Given the description of an element on the screen output the (x, y) to click on. 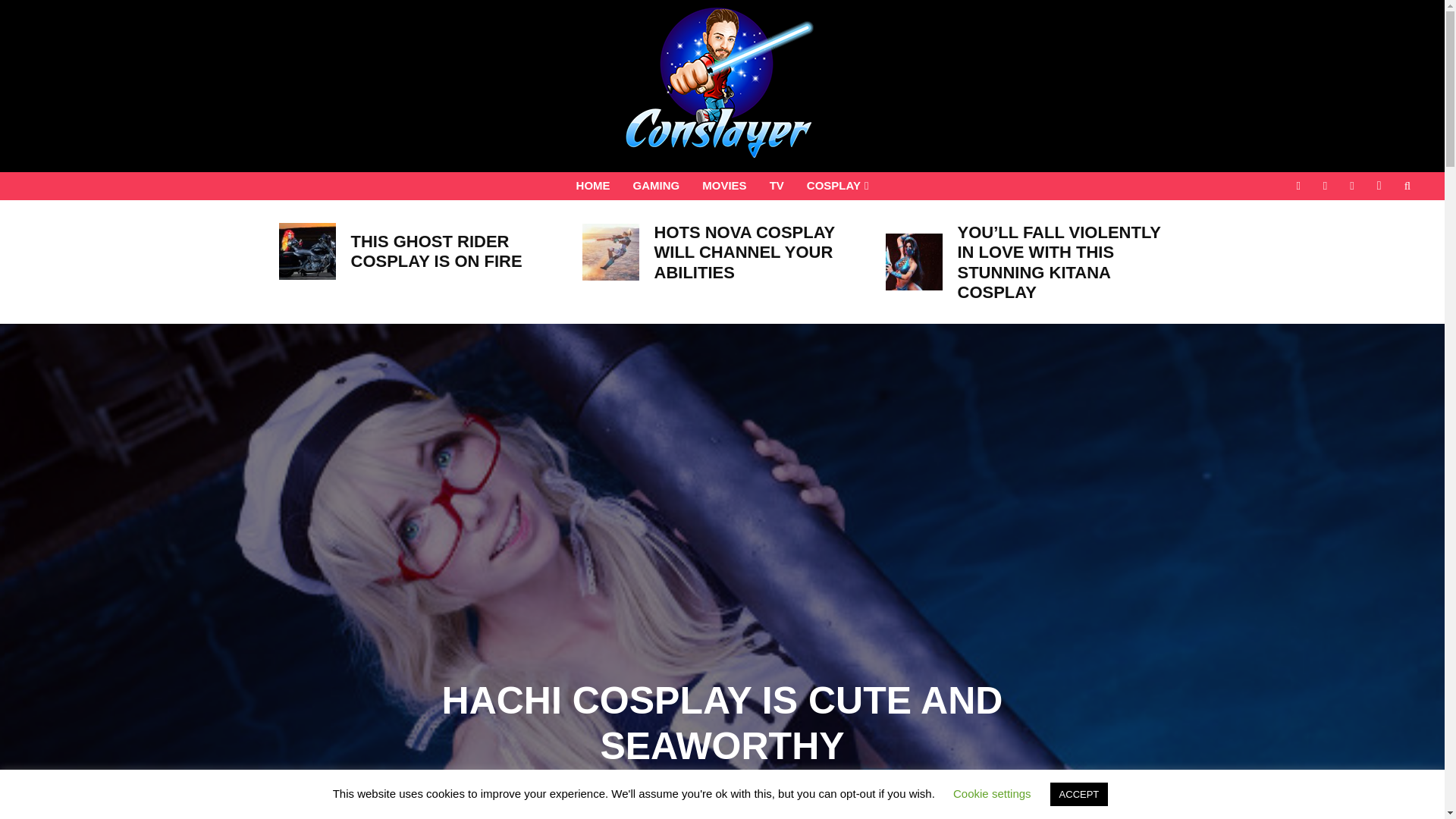
MOVIES (723, 185)
GAMING (656, 185)
nova-cosplay-1 (610, 251)
ghost-rider-cosplay-1 (307, 251)
HOME (592, 185)
TV (776, 185)
COSPLAY (837, 185)
